Given the description of an element on the screen output the (x, y) to click on. 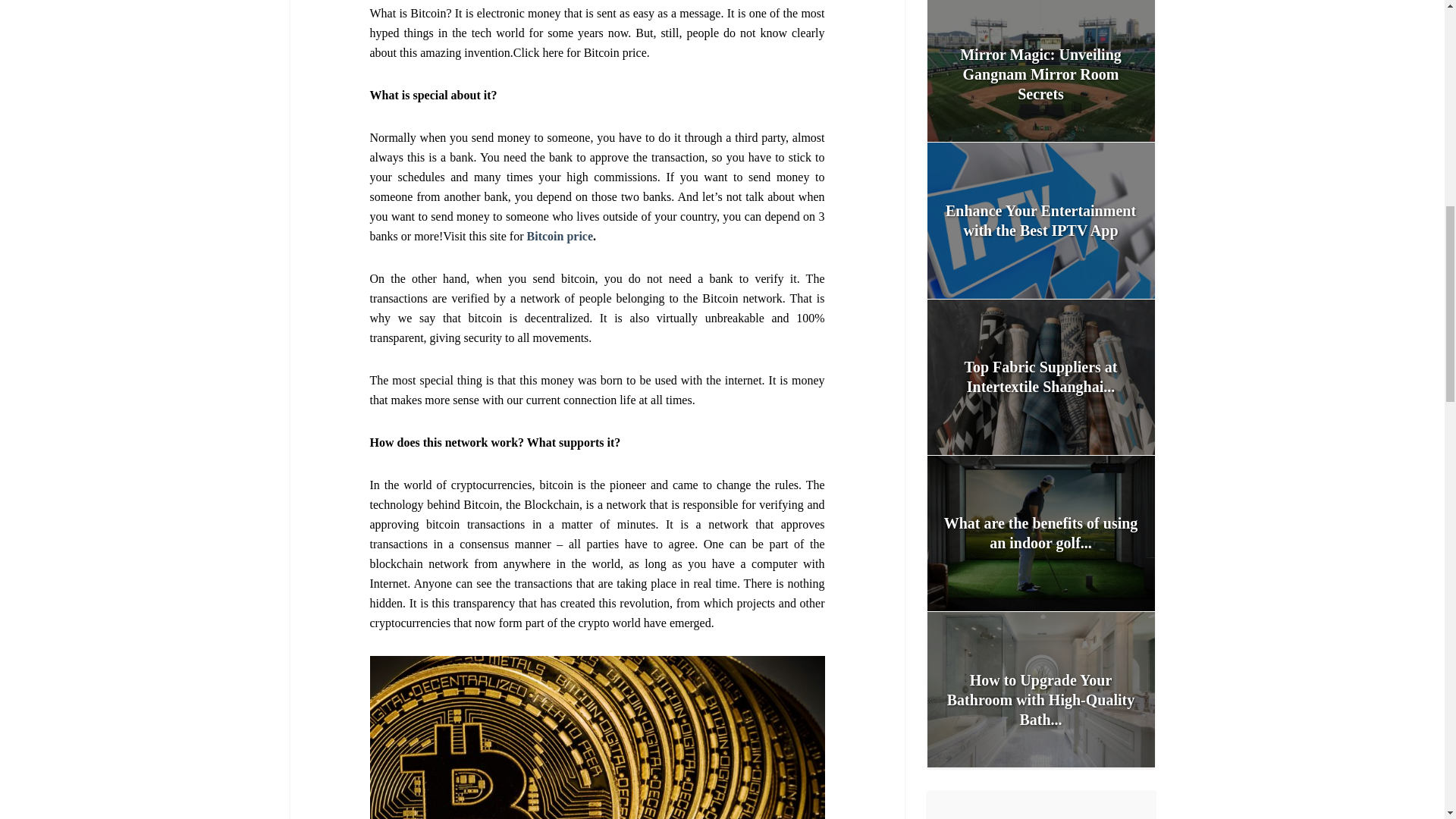
Enhance Your Entertainment with the Best IPTV App (1039, 220)
Mirror Magic: Unveiling Gangnam Mirror Room Secrets (1040, 70)
Mirror Magic: Unveiling Gangnam Mirror Room Secrets (1040, 73)
Enhance Your Entertainment with the Best IPTV App (1040, 220)
Bitcoin price (560, 236)
What are the benefits of using an indoor golf simulator? (1040, 533)
What are the benefits of using an indoor golf simulator? (1040, 532)
